Given the description of an element on the screen output the (x, y) to click on. 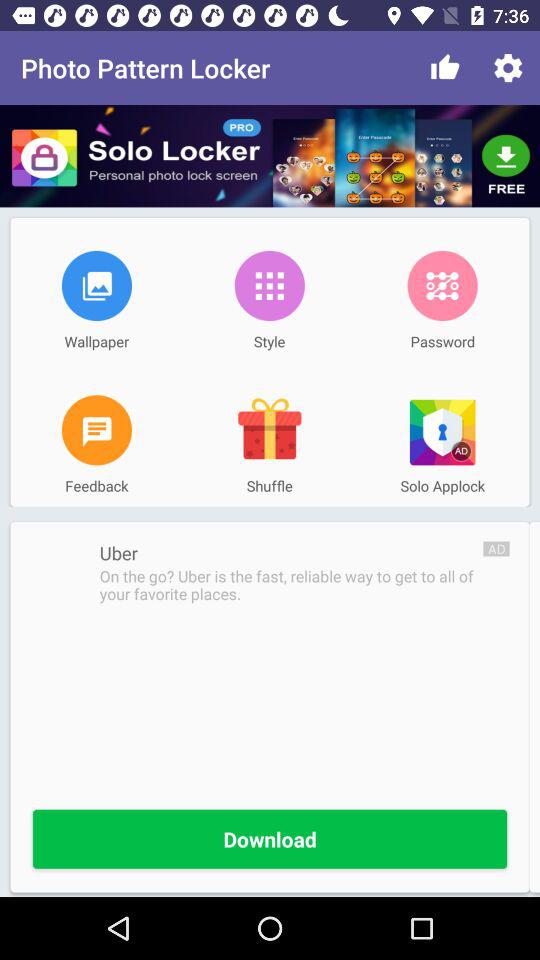
turn on the icon next to the style item (442, 285)
